Given the description of an element on the screen output the (x, y) to click on. 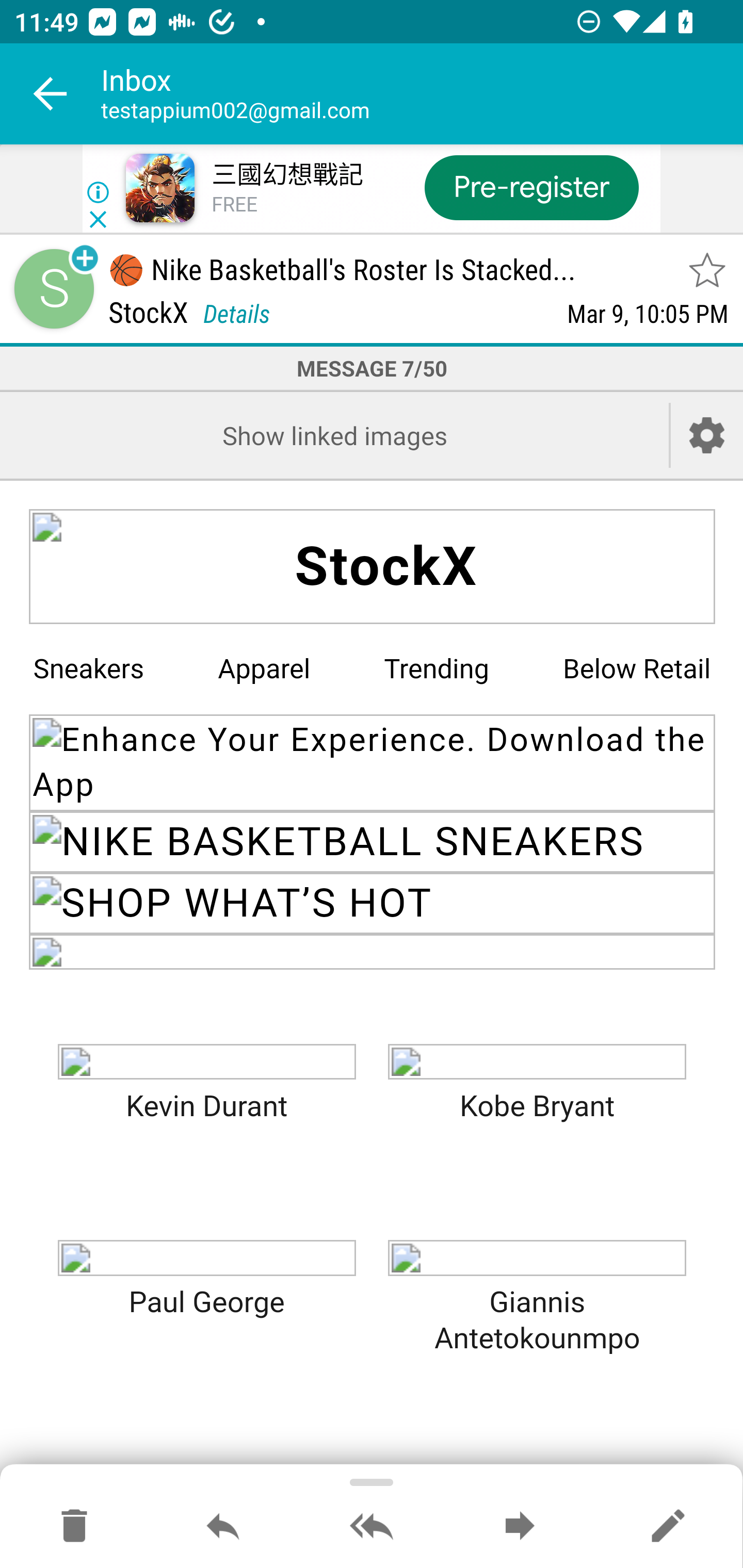
Navigate up (50, 93)
Inbox testappium002@gmail.com (422, 93)
Pre-register (530, 187)
三國幻想戰記 (287, 175)
FREE (234, 204)
Sender contact button (53, 289)
Show linked images (334, 435)
Account setup (706, 435)
StockX (372, 567)
Sneakers (88, 668)
Apparel (264, 668)
Trending (436, 668)
Below Retail (636, 668)
Enhance Your Experience. Download the App (372, 762)
NIKE BASKETBALL SNEAKERS (372, 841)
SHOP WHAT’S HOT (372, 902)
click?upn=u001 (372, 951)
click?upn=u001 (206, 1061)
click?upn=u001 (537, 1061)
click?upn=u001 (206, 1257)
click?upn=u001 (537, 1257)
Move to Deleted (74, 1527)
Reply (222, 1527)
Reply all (371, 1527)
Forward (519, 1527)
Reply as new (667, 1527)
